Given the description of an element on the screen output the (x, y) to click on. 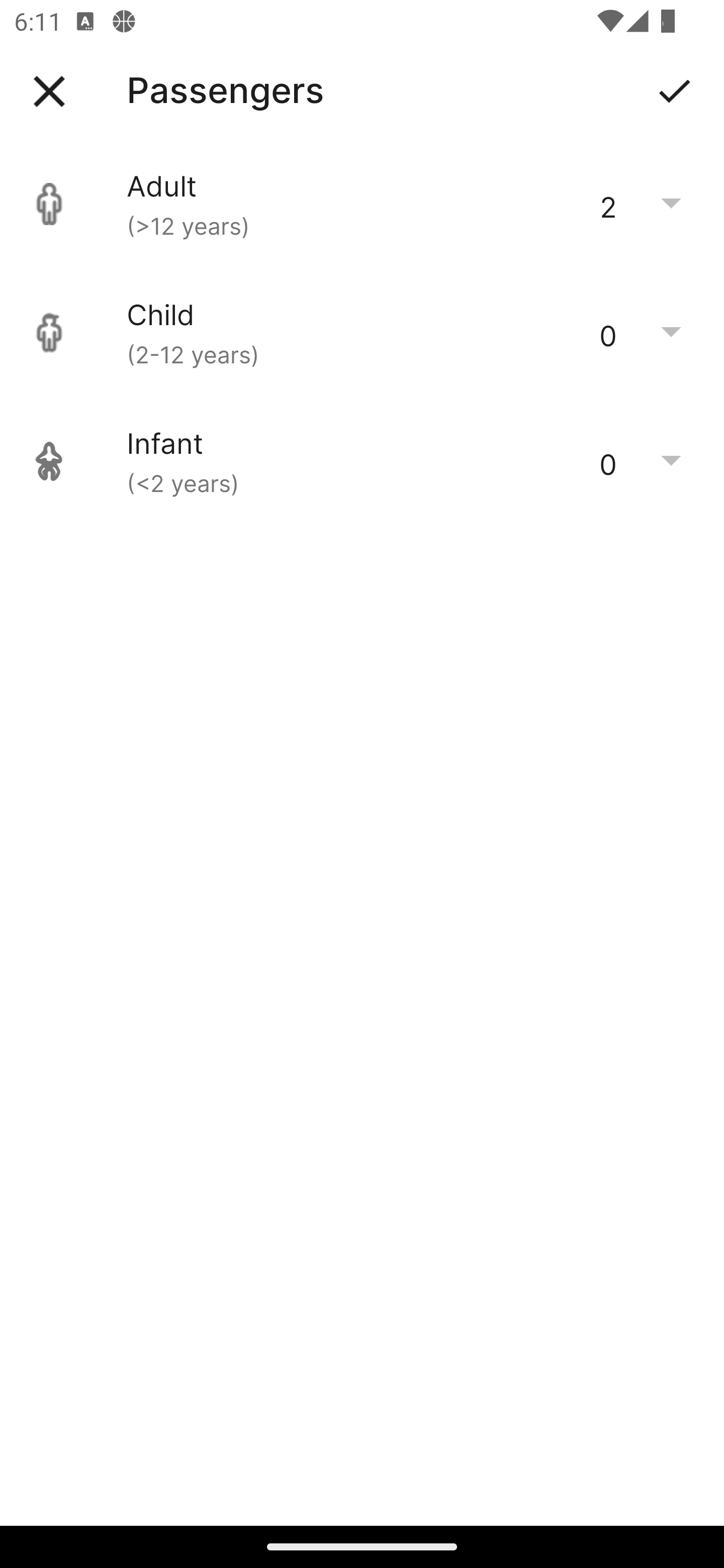
Adult (>12 years) 2 (362, 204)
Child (2-12 years) 0 (362, 332)
Infant (<2 years) 0 (362, 461)
